Given the description of an element on the screen output the (x, y) to click on. 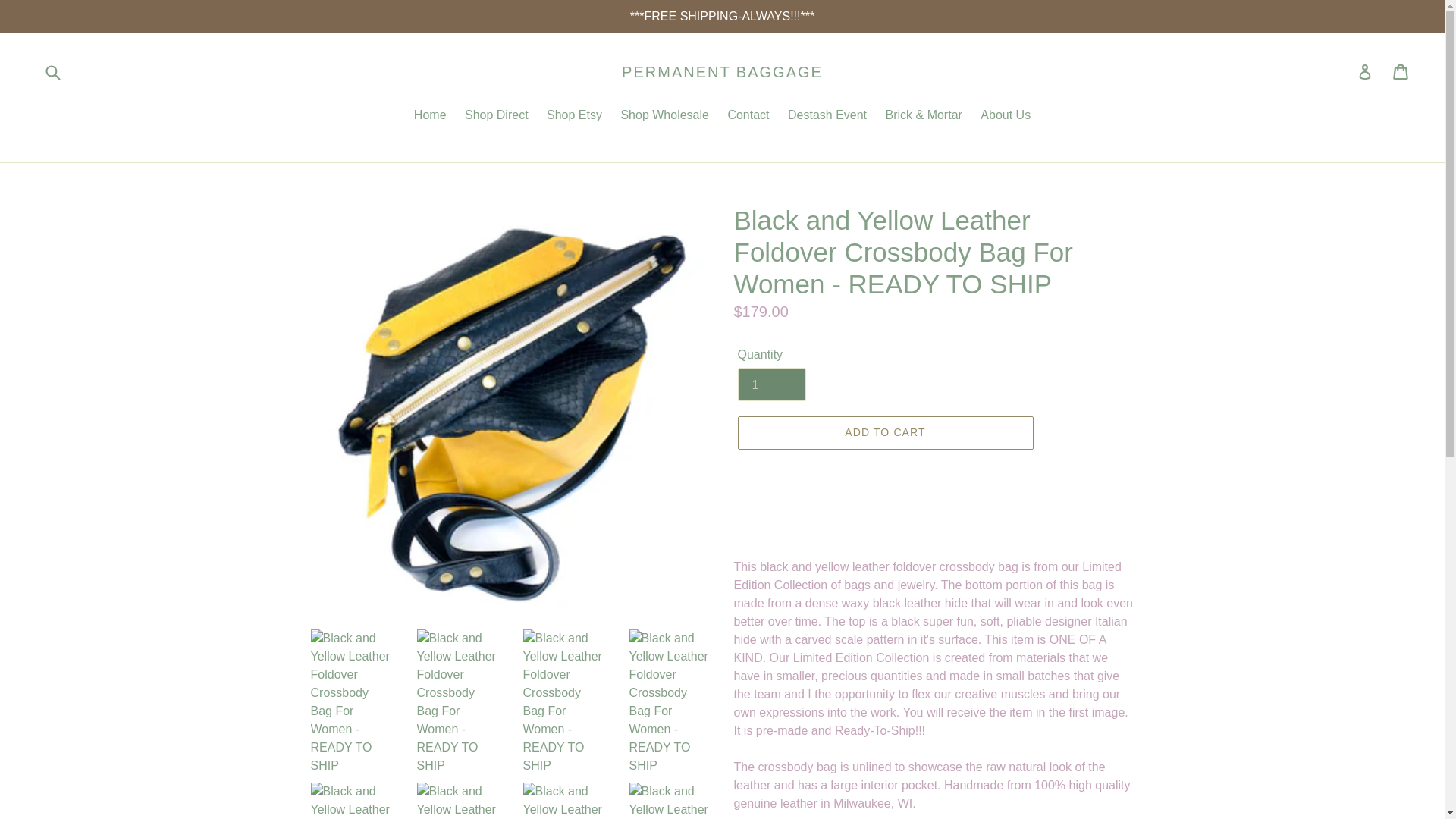
Log in (1364, 71)
Home (430, 116)
Shop Direct (496, 116)
Contact (747, 116)
Submit (52, 71)
Destash Event (827, 116)
Cart (1401, 71)
1 (770, 384)
Shop Etsy (574, 116)
ADD TO CART (884, 432)
Shop Wholesale (664, 116)
About Us (1005, 116)
PERMANENT BAGGAGE (721, 72)
